Given the description of an element on the screen output the (x, y) to click on. 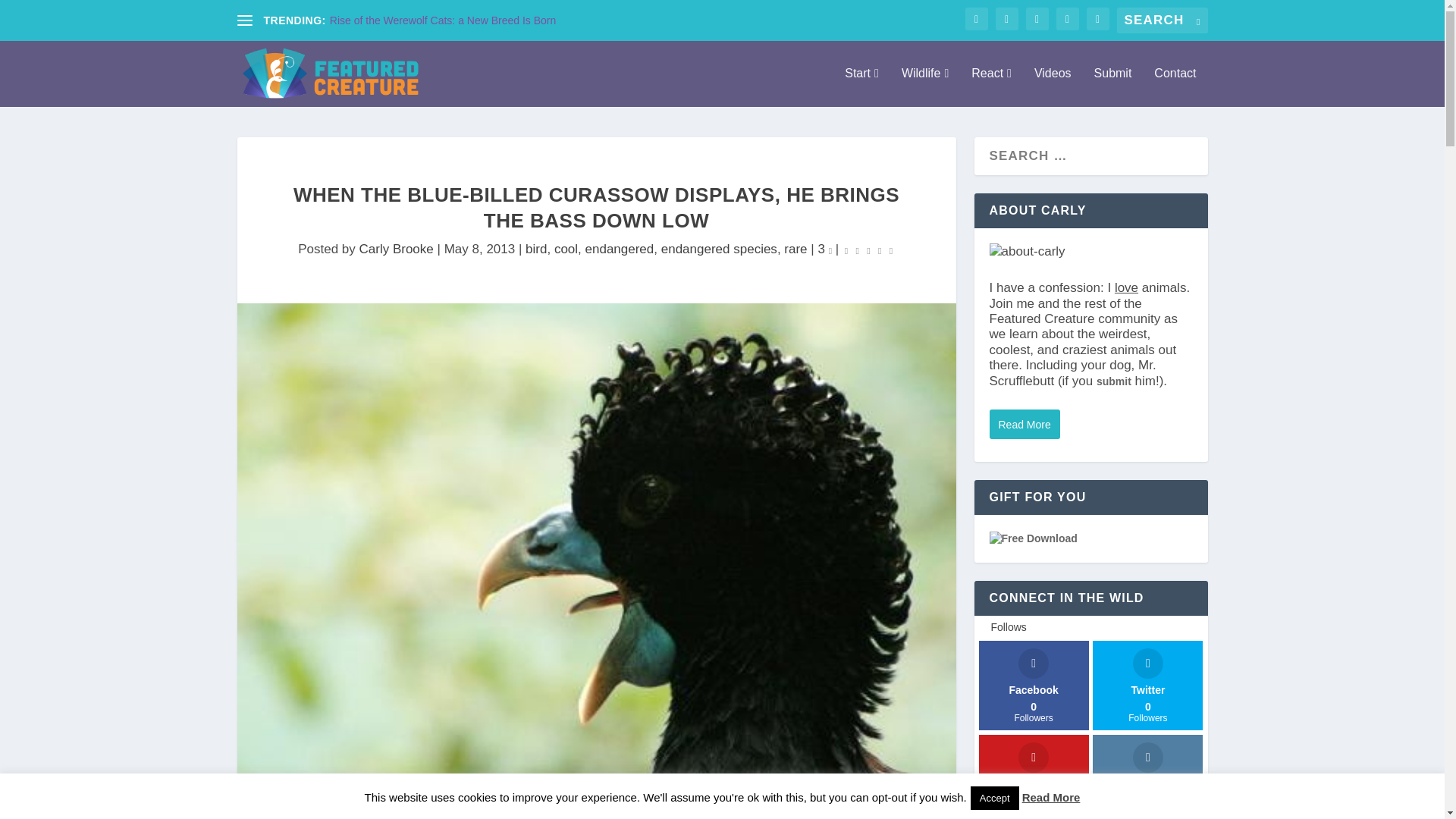
Posts by Carly Brooke (396, 248)
Rise of the Werewolf Cats: a New Breed Is Born (443, 20)
React (991, 87)
Wildlife (925, 87)
Submit (1113, 87)
Rating: 0.00 (869, 249)
Contact (1174, 87)
Videos (1052, 87)
Search for: (1161, 20)
